Given the description of an element on the screen output the (x, y) to click on. 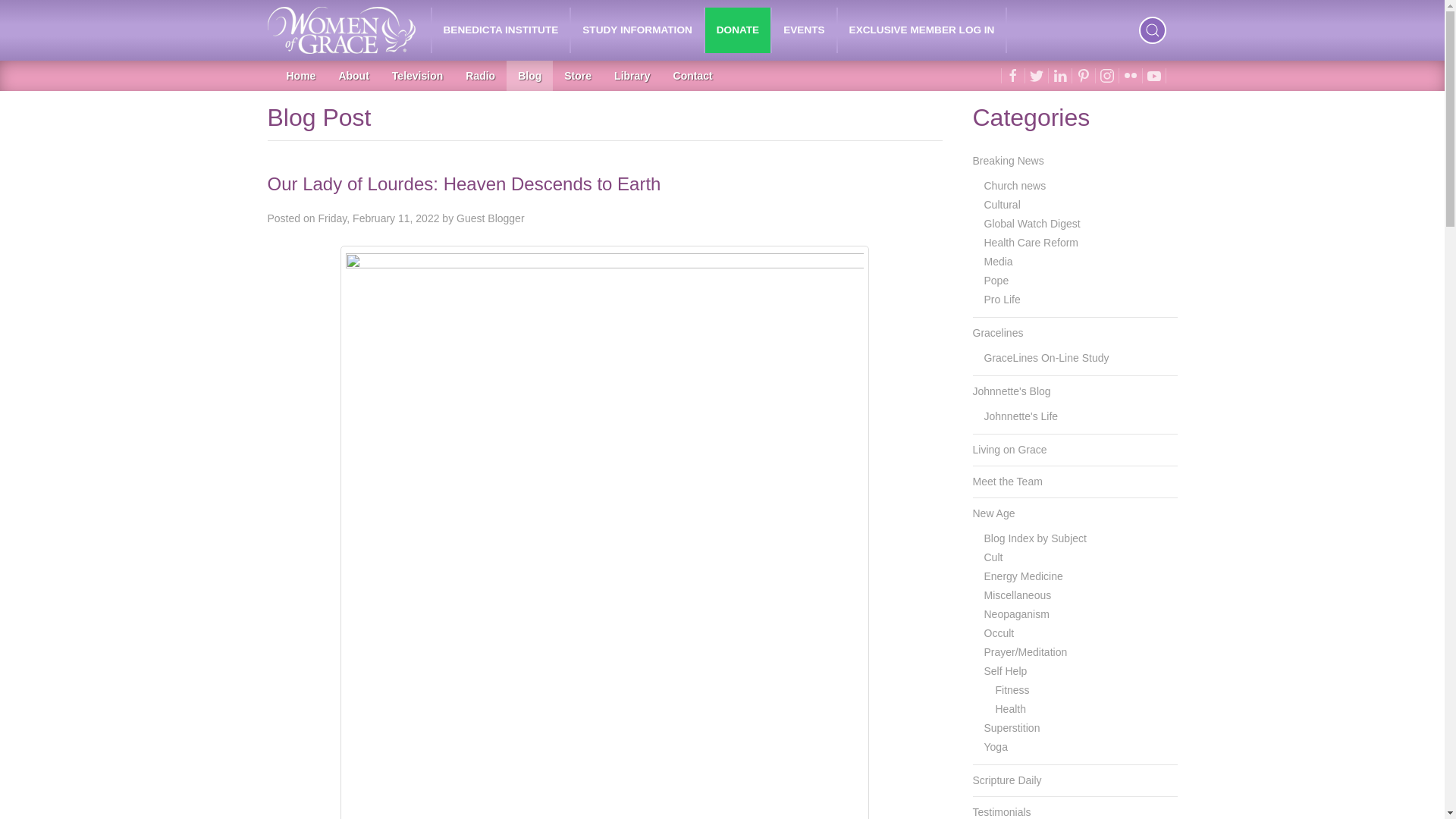
Media (1080, 261)
Blog (529, 75)
Breaking News (1074, 160)
 8:17 am (378, 218)
About (353, 75)
View all posts by Guest Blogger (490, 218)
Contact (692, 75)
Home (300, 75)
Global Watch Digest (1080, 223)
STUDY INFORMATION (636, 30)
